Given the description of an element on the screen output the (x, y) to click on. 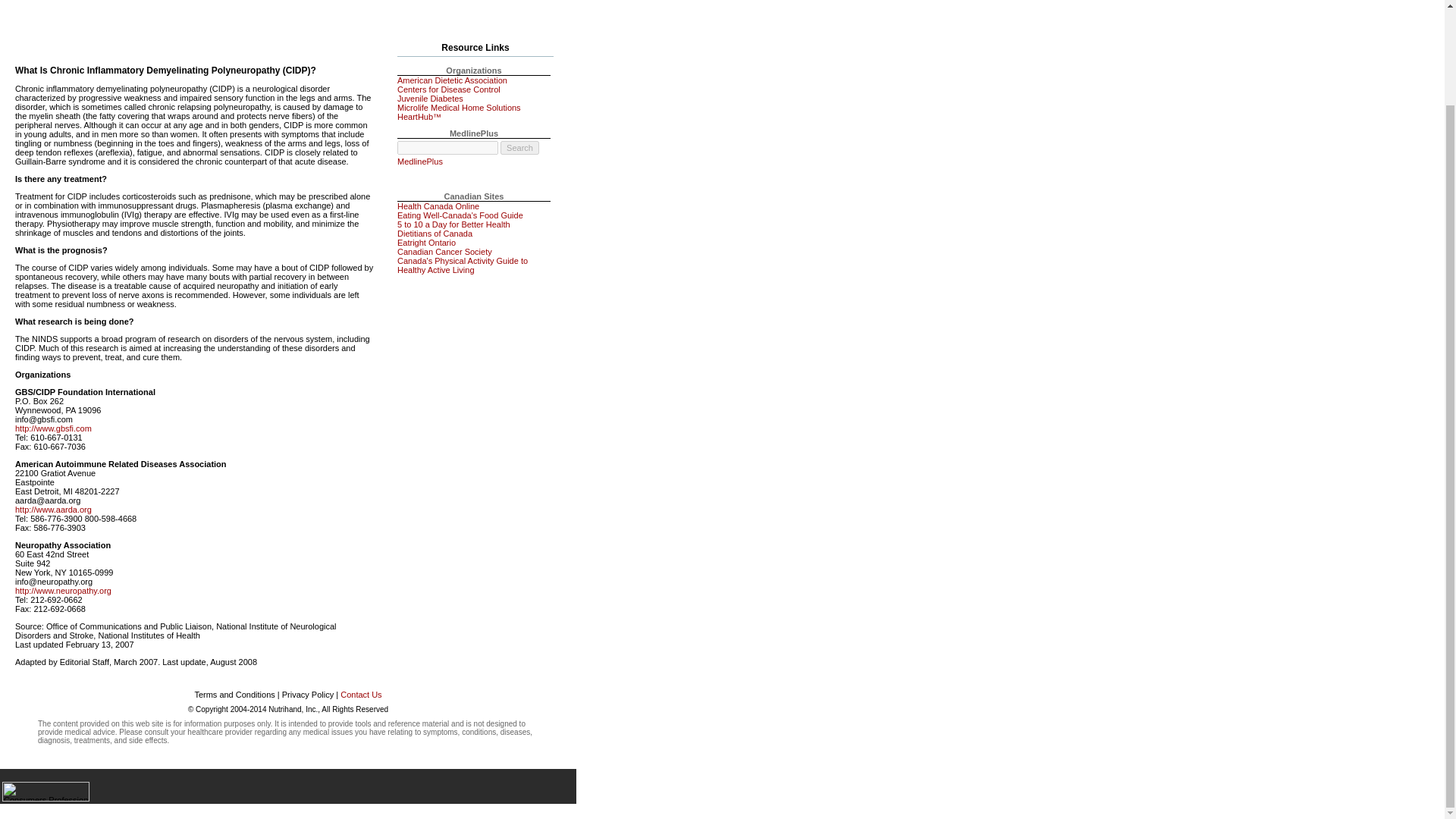
Search (519, 147)
American Dietetic Association (451, 80)
Centers for Disease Control (448, 89)
Health Canada Online (438, 205)
Juvenile Diabetes (430, 98)
Five To Ten a Day for Better Health (454, 224)
Microlife Medical Home Solutions (459, 107)
Canadian Cancer Society (444, 251)
Medical (402, 21)
Dietitians of Canada (434, 233)
Microlife Medical Home Solutions (459, 107)
Terms and Conditions (234, 694)
Health Canada Online (438, 205)
Juvenile Diabetes Research Foundation (430, 98)
Dietitians of Canada (434, 233)
